Given the description of an element on the screen output the (x, y) to click on. 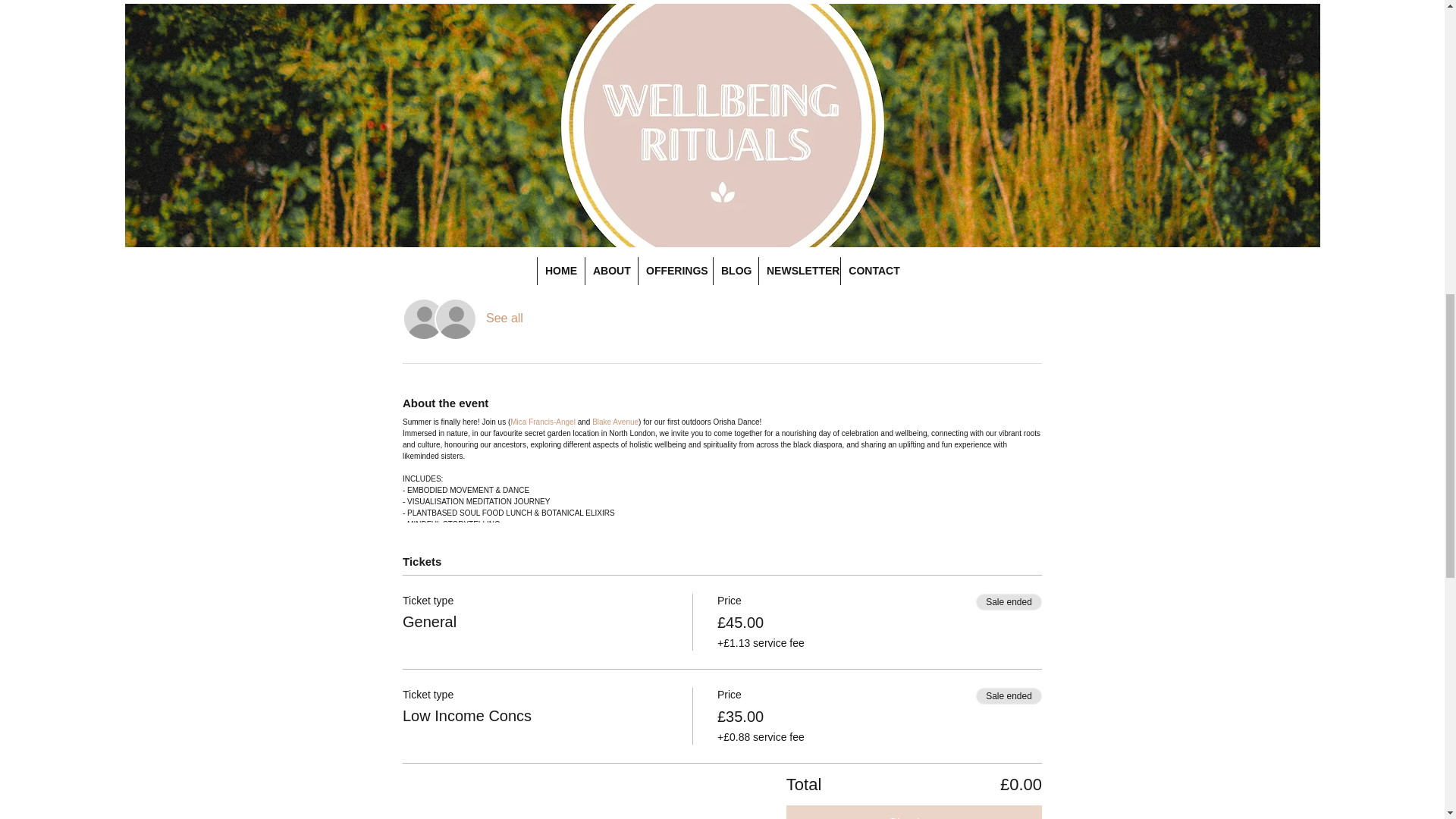
Mica Francis-Angel (543, 421)
Blake Avenue (615, 421)
Checkout (914, 812)
See all (504, 318)
